Given the description of an element on the screen output the (x, y) to click on. 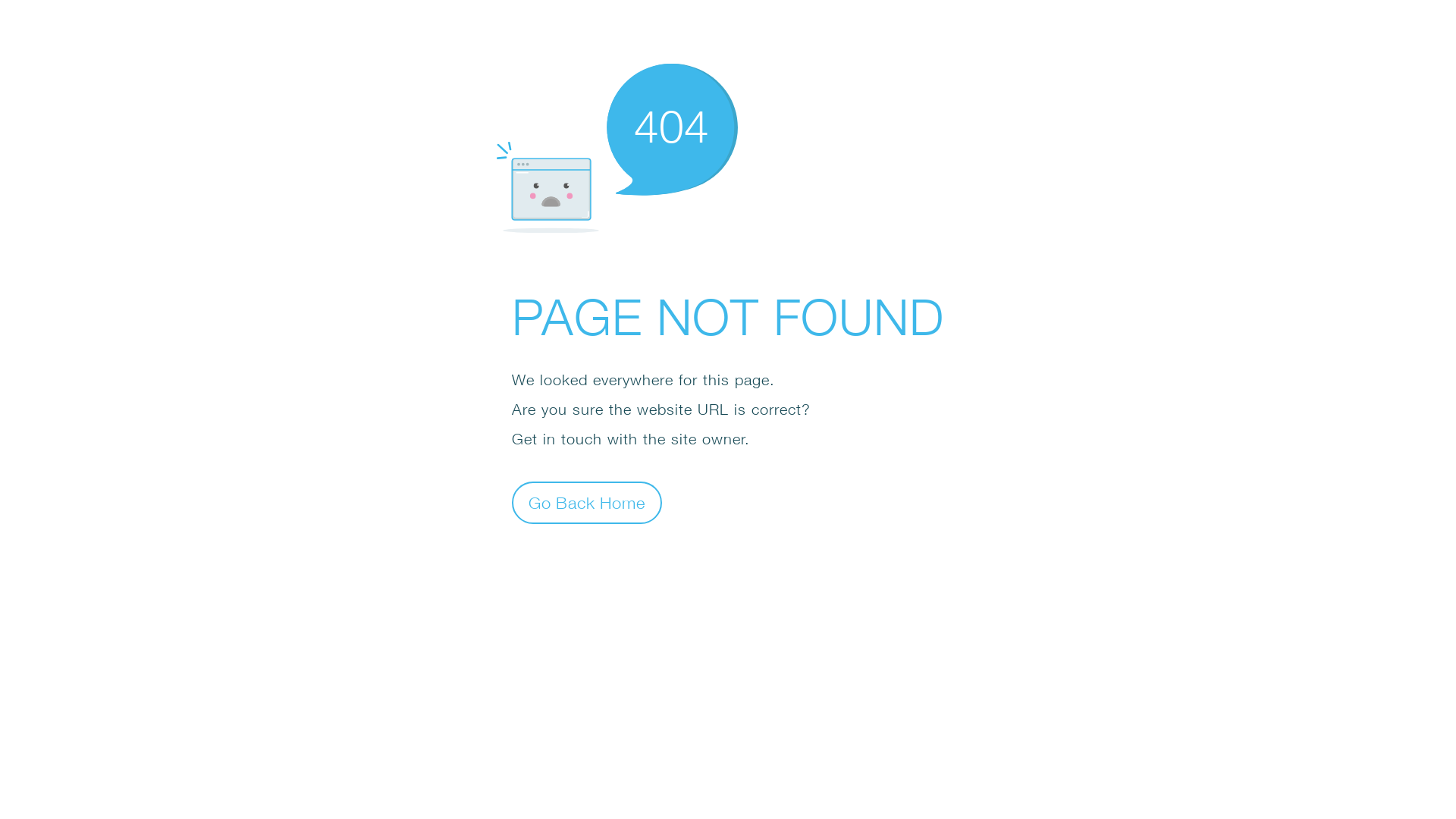
Go Back Home Element type: text (586, 502)
